Given the description of an element on the screen output the (x, y) to click on. 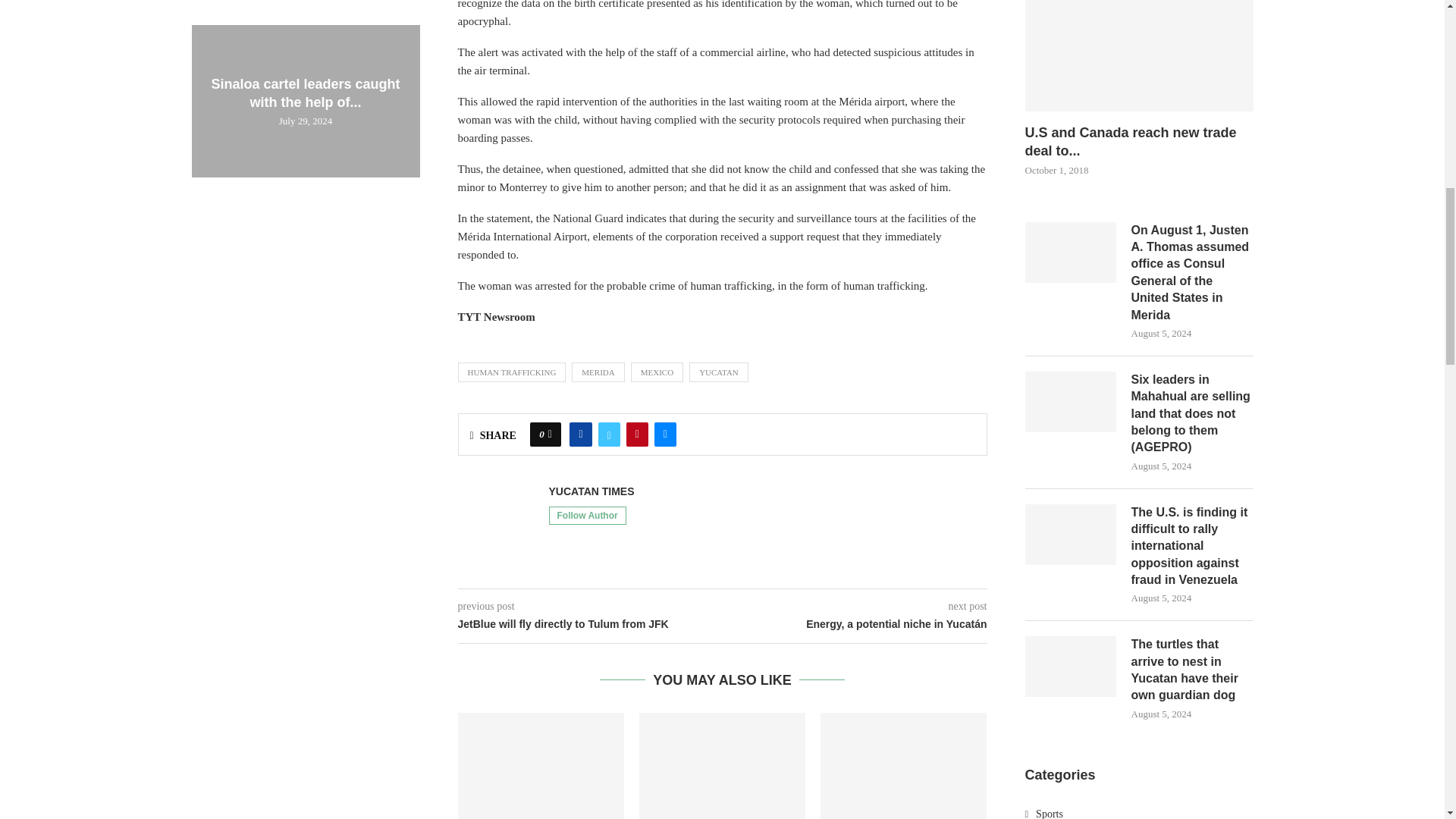
Author Yucatan Times (591, 491)
